Given the description of an element on the screen output the (x, y) to click on. 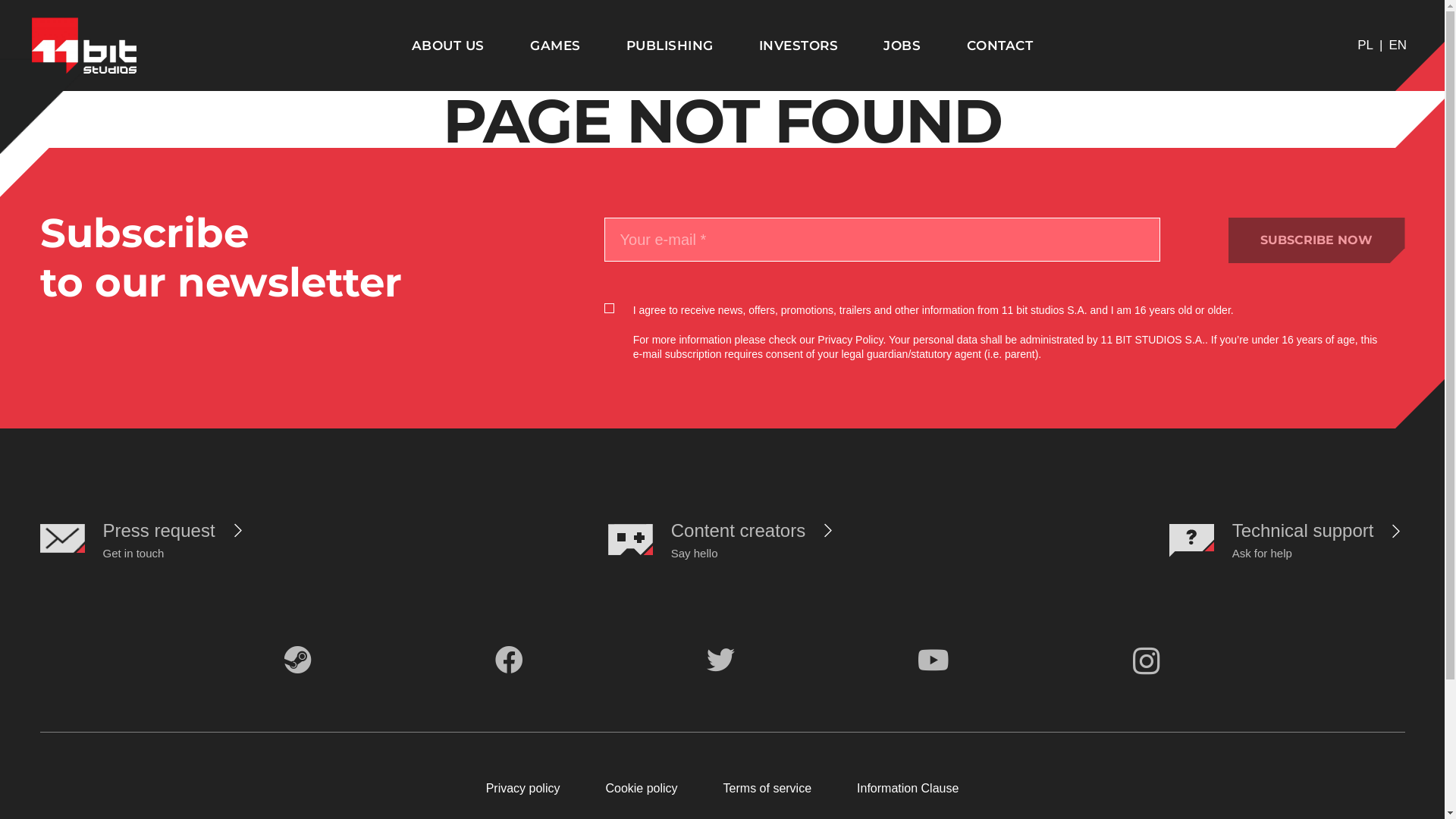
EN Element type: text (1397, 44)
Cookie policy Element type: text (641, 787)
Terms of service Element type: text (767, 787)
ABOUT US Element type: text (447, 45)
YouTube Element type: hover (933, 660)
PUBLISHING Element type: text (669, 45)
Technical support Element type: text (1303, 530)
GAMES Element type: text (555, 45)
Privacy Policy Element type: text (849, 339)
JOBS Element type: text (901, 45)
Privacy policy Element type: text (523, 787)
CONTACT Element type: text (999, 45)
| Element type: text (1380, 44)
Twitter Element type: hover (720, 660)
Facebook Element type: hover (509, 660)
Instagram Element type: hover (1146, 661)
Faq Element type: hover (1388, 530)
PL Element type: text (1365, 44)
SUBSCRIBE NOW Element type: text (1316, 240)
Steam Element type: hover (297, 660)
INVESTORS Element type: text (798, 45)
Information Clause Element type: text (907, 787)
